Given the description of an element on the screen output the (x, y) to click on. 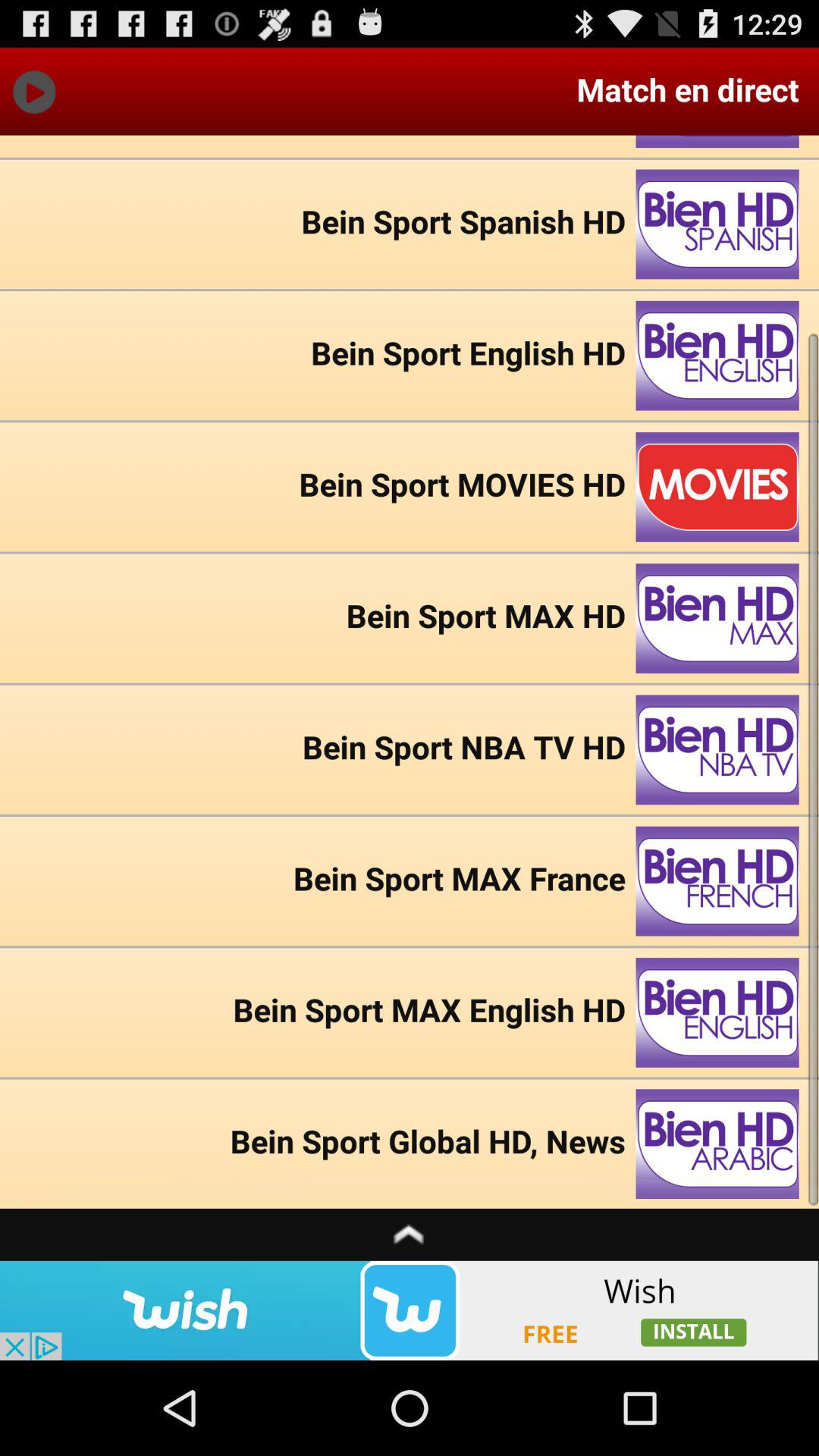
advertisement (409, 1310)
